Given the description of an element on the screen output the (x, y) to click on. 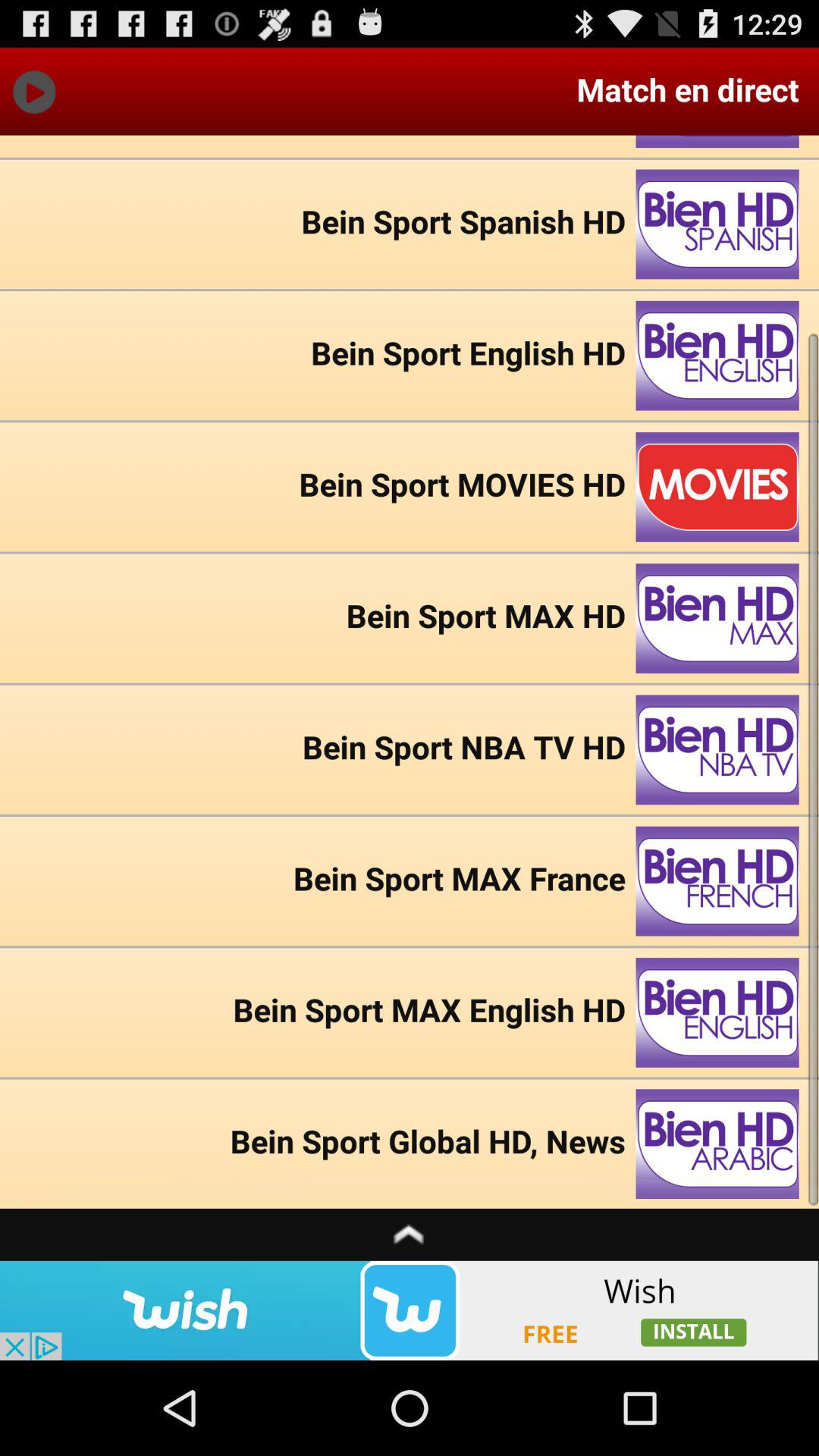
advertisement (409, 1310)
